Given the description of an element on the screen output the (x, y) to click on. 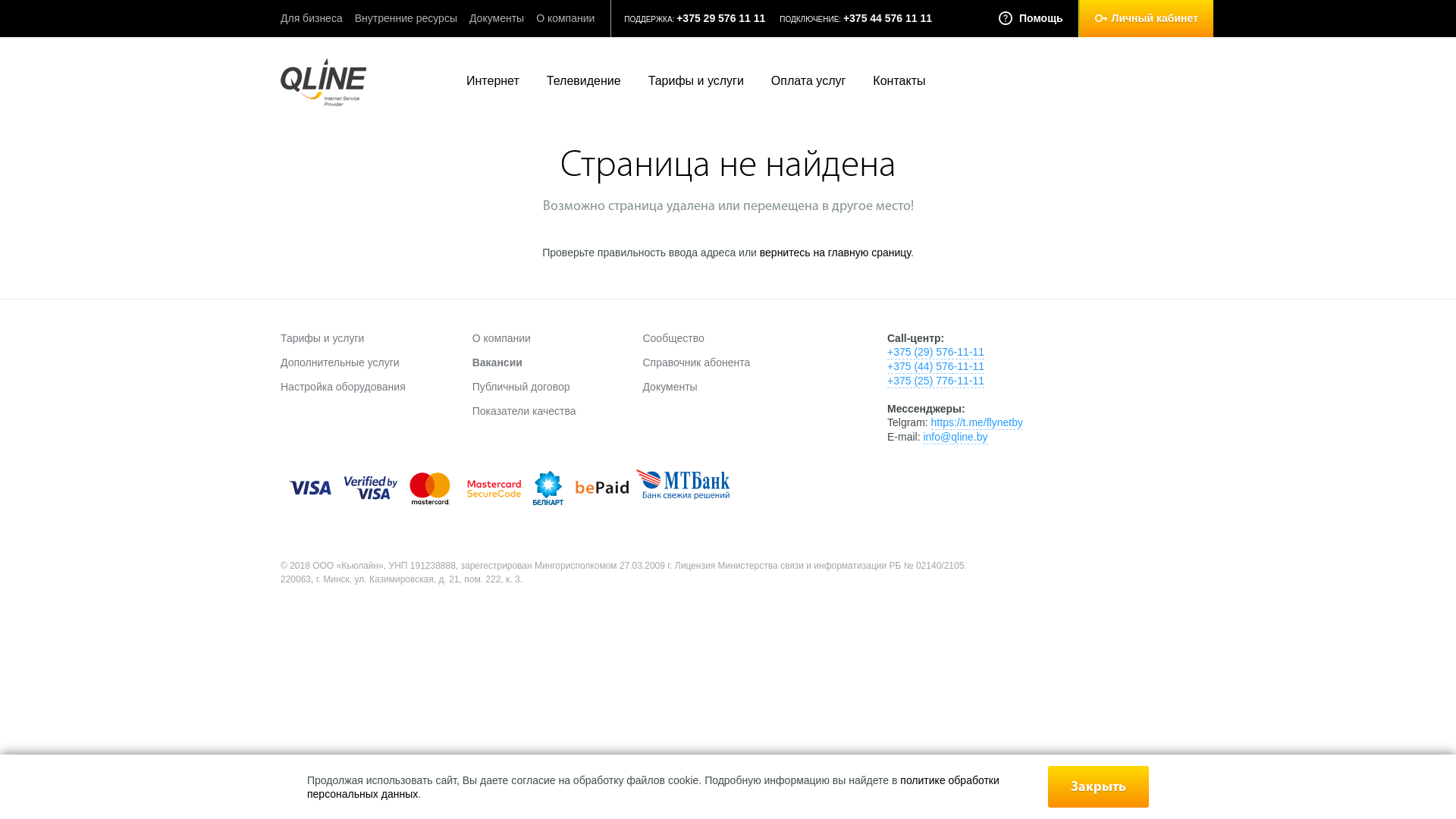
+375 (44) 576-11-11 Element type: text (935, 366)
+375 (25) 776-11-11 Element type: text (935, 380)
+375 (29) 576-11-11 Element type: text (935, 352)
+375 29 576 11 11 Element type: text (720, 18)
info@qline.by Element type: text (954, 436)
https://t.me/flynetby Element type: text (976, 422)
+375 44 576 11 11 Element type: text (887, 18)
